Given the description of an element on the screen output the (x, y) to click on. 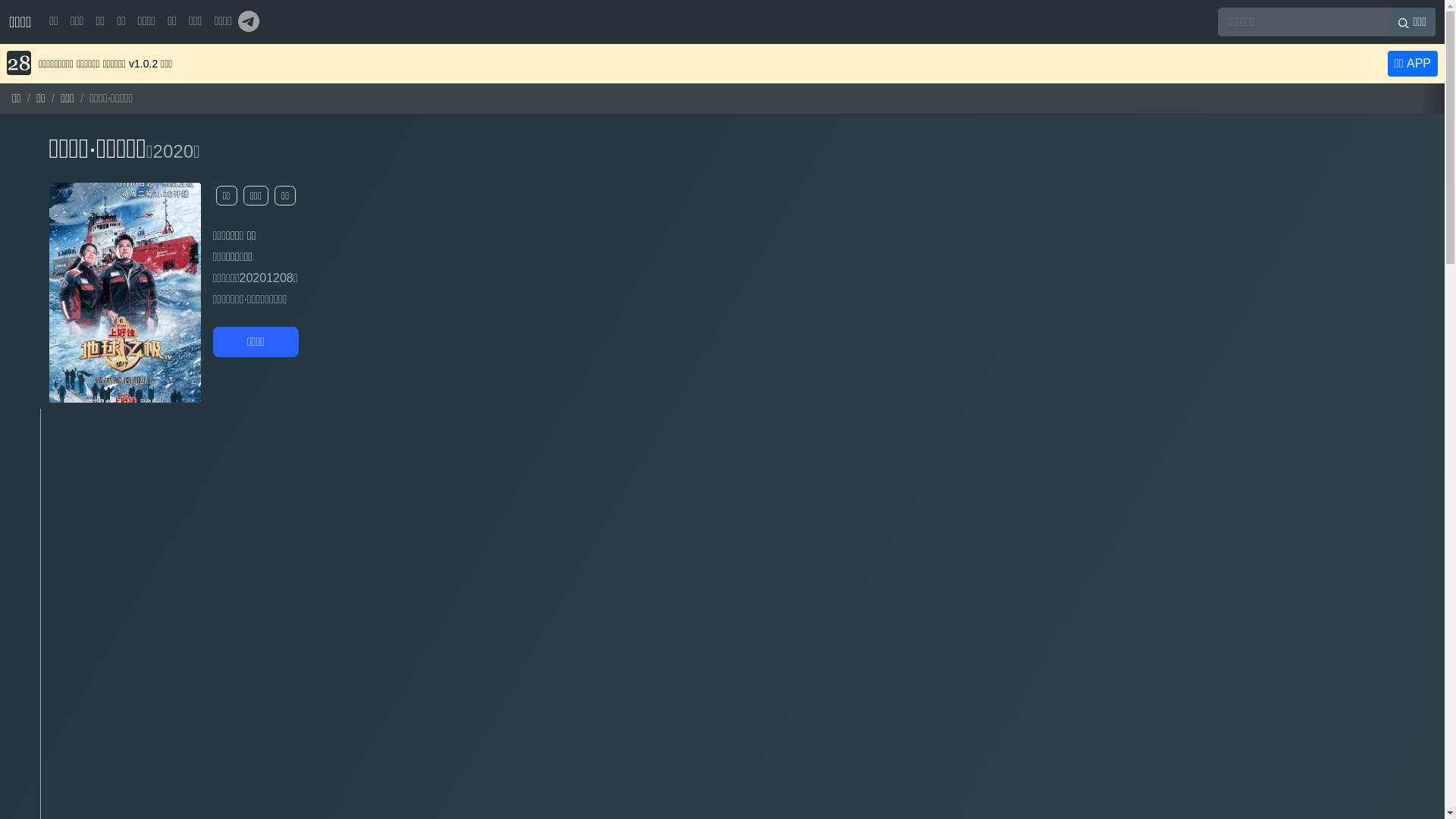
2020 Element type: text (173, 151)
